Given the description of an element on the screen output the (x, y) to click on. 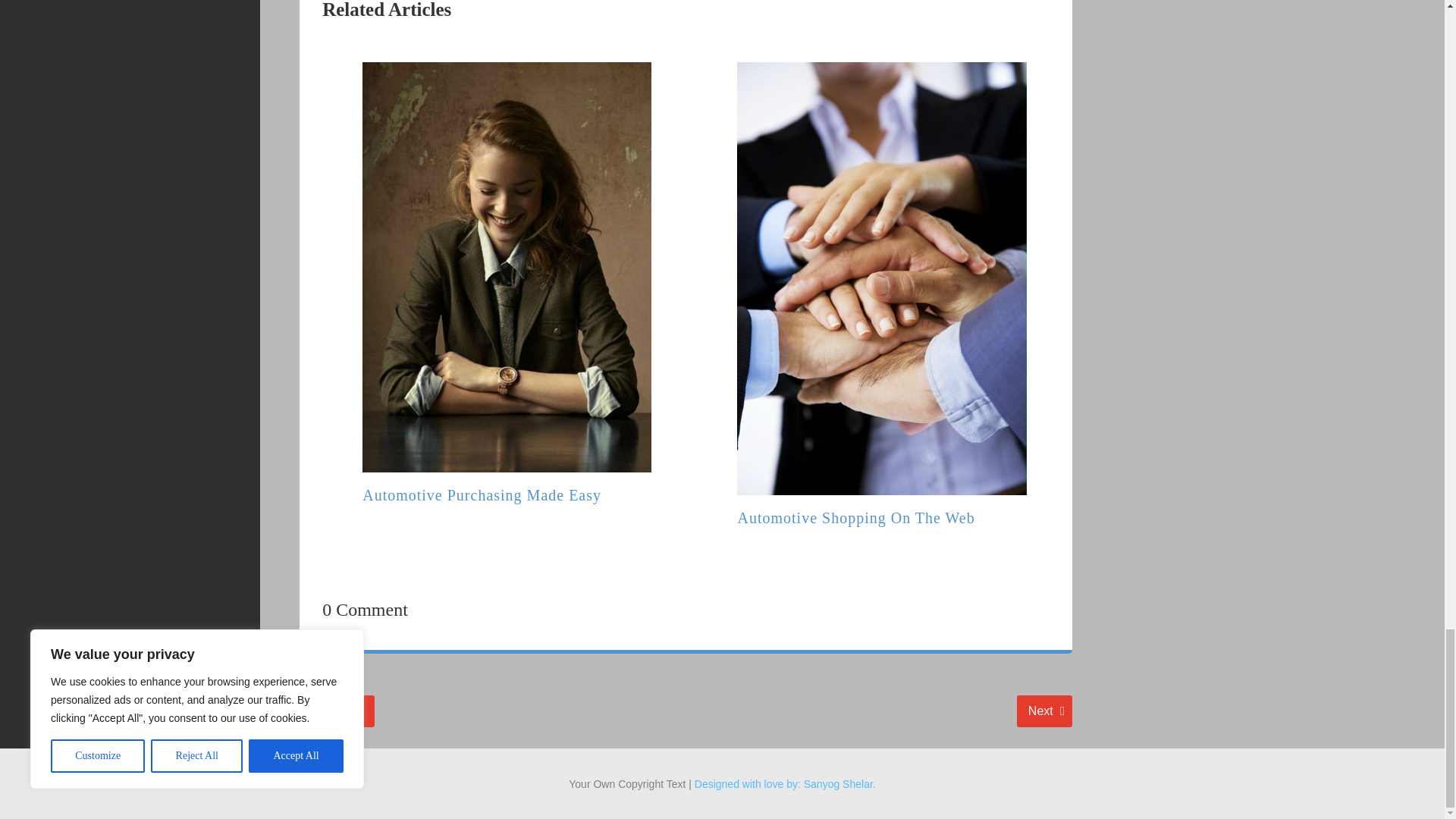
Automotive Purchasing Made Easy (335, 711)
Automotive Shopping On The Web (481, 494)
